Given the description of an element on the screen output the (x, y) to click on. 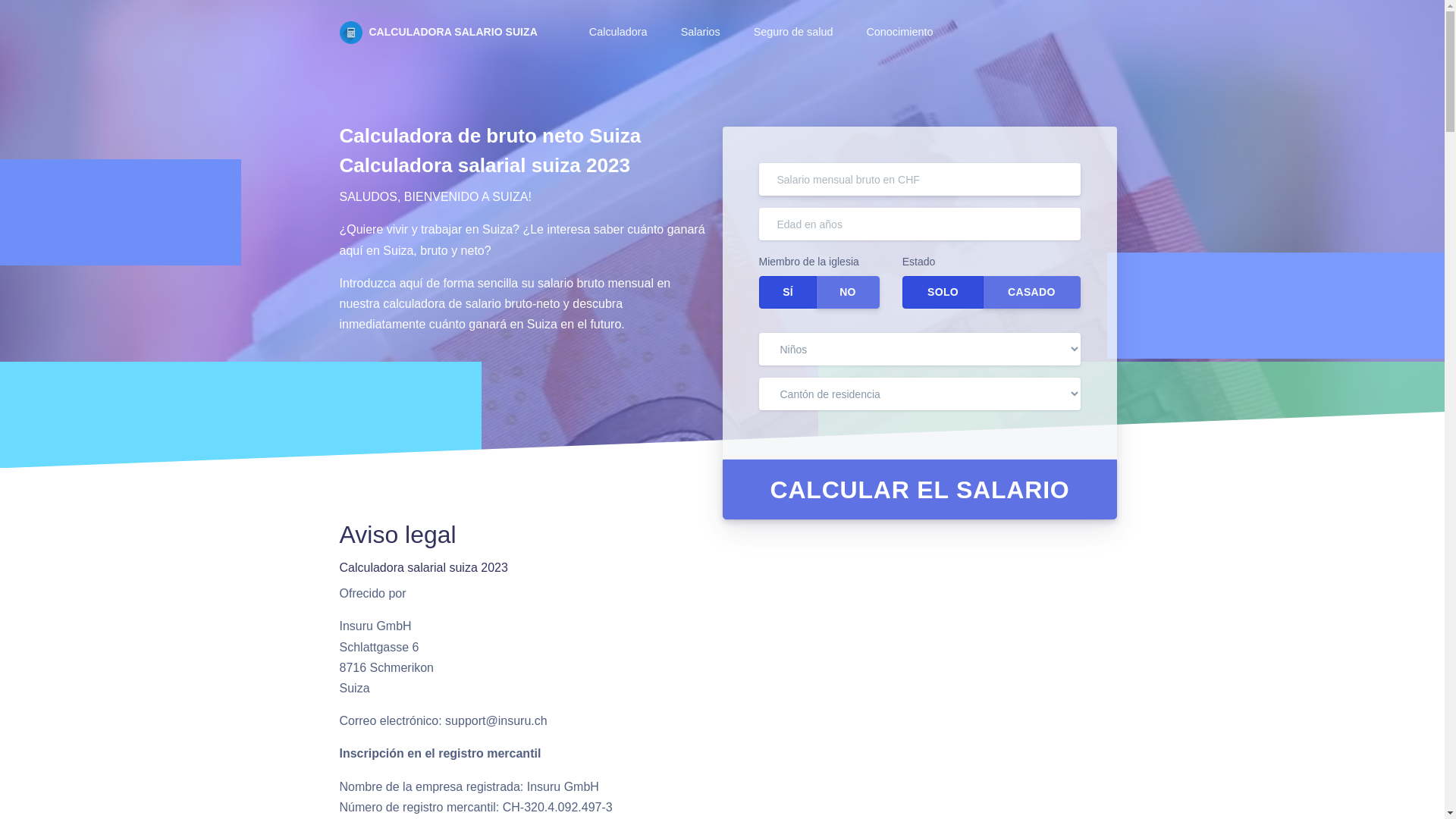
CALCULAR EL SALARIO Element type: text (918, 489)
Conocimiento Element type: text (897, 32)
Salarios Element type: text (698, 32)
Calculadora Element type: text (616, 32)
CALCULADORA SALARIO SUIZA Element type: text (438, 32)
Seguro de salud Element type: text (791, 32)
